Given the description of an element on the screen output the (x, y) to click on. 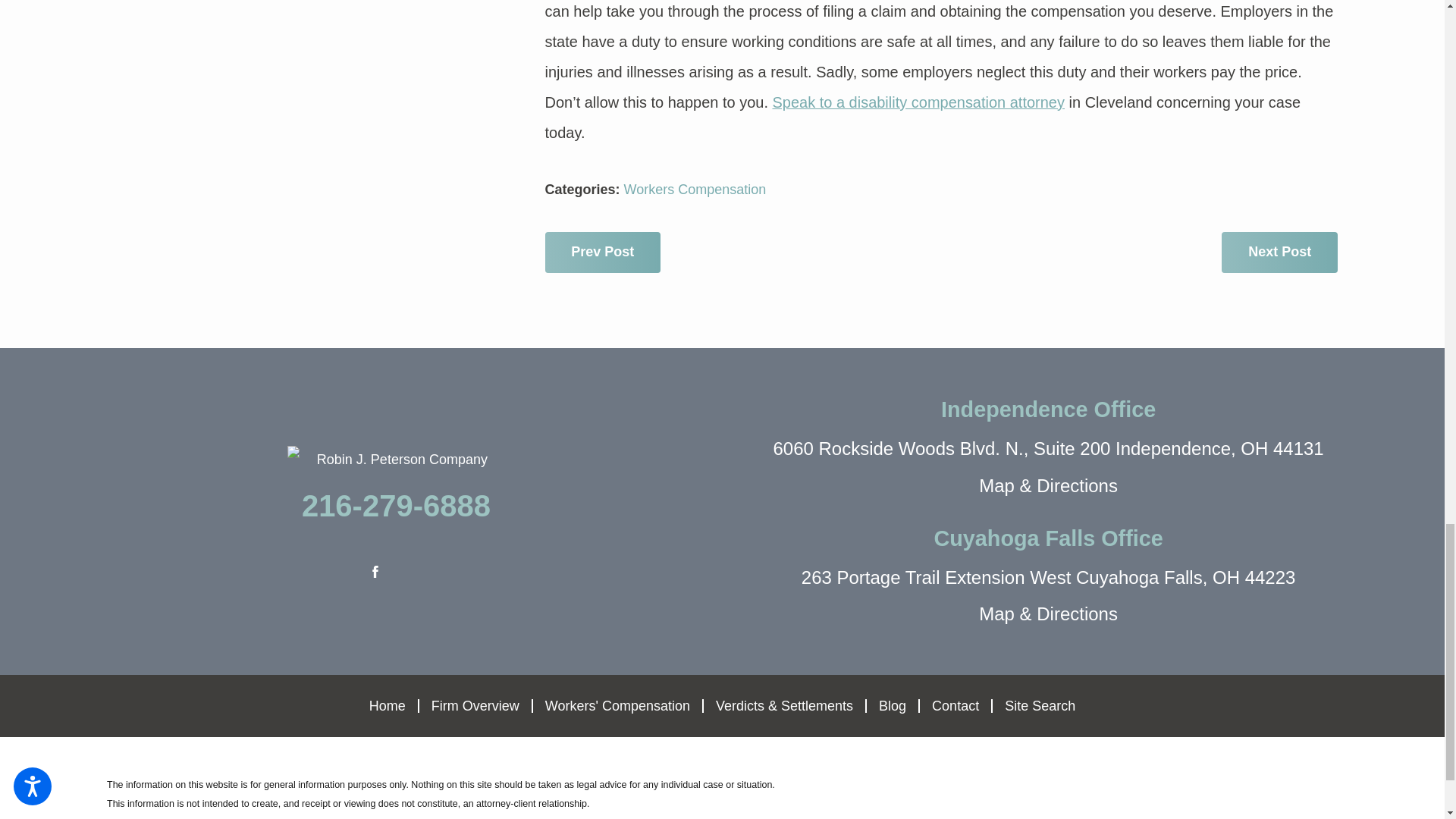
Facebook (375, 571)
Google Business Profile (416, 571)
Robin J. Peterson Company (395, 459)
